Given the description of an element on the screen output the (x, y) to click on. 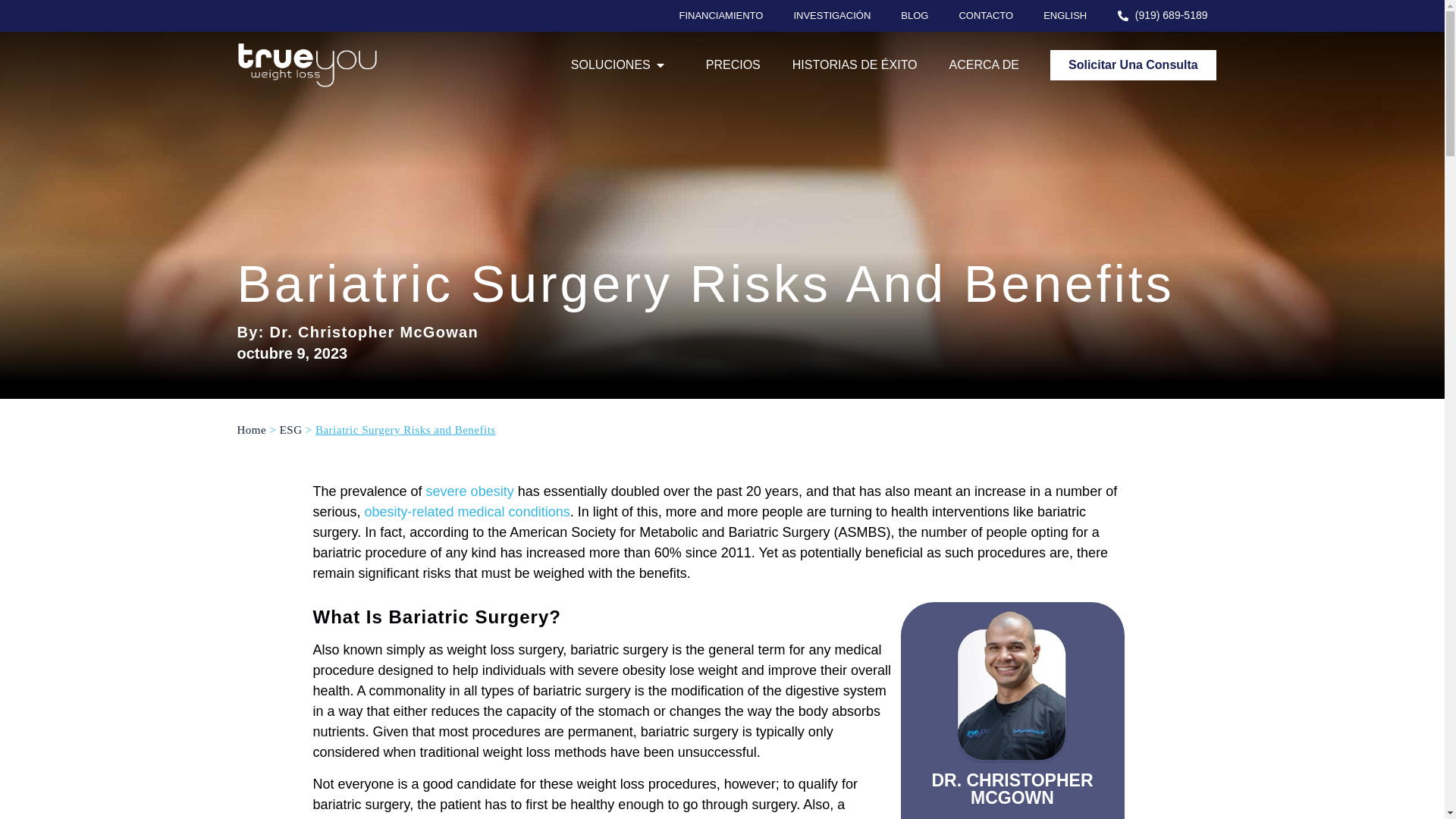
ENGLISH (1064, 15)
CONTACTO (985, 15)
BLOG (914, 15)
FINANCIAMIENTO (720, 15)
SOLUCIONES (610, 65)
